Given the description of an element on the screen output the (x, y) to click on. 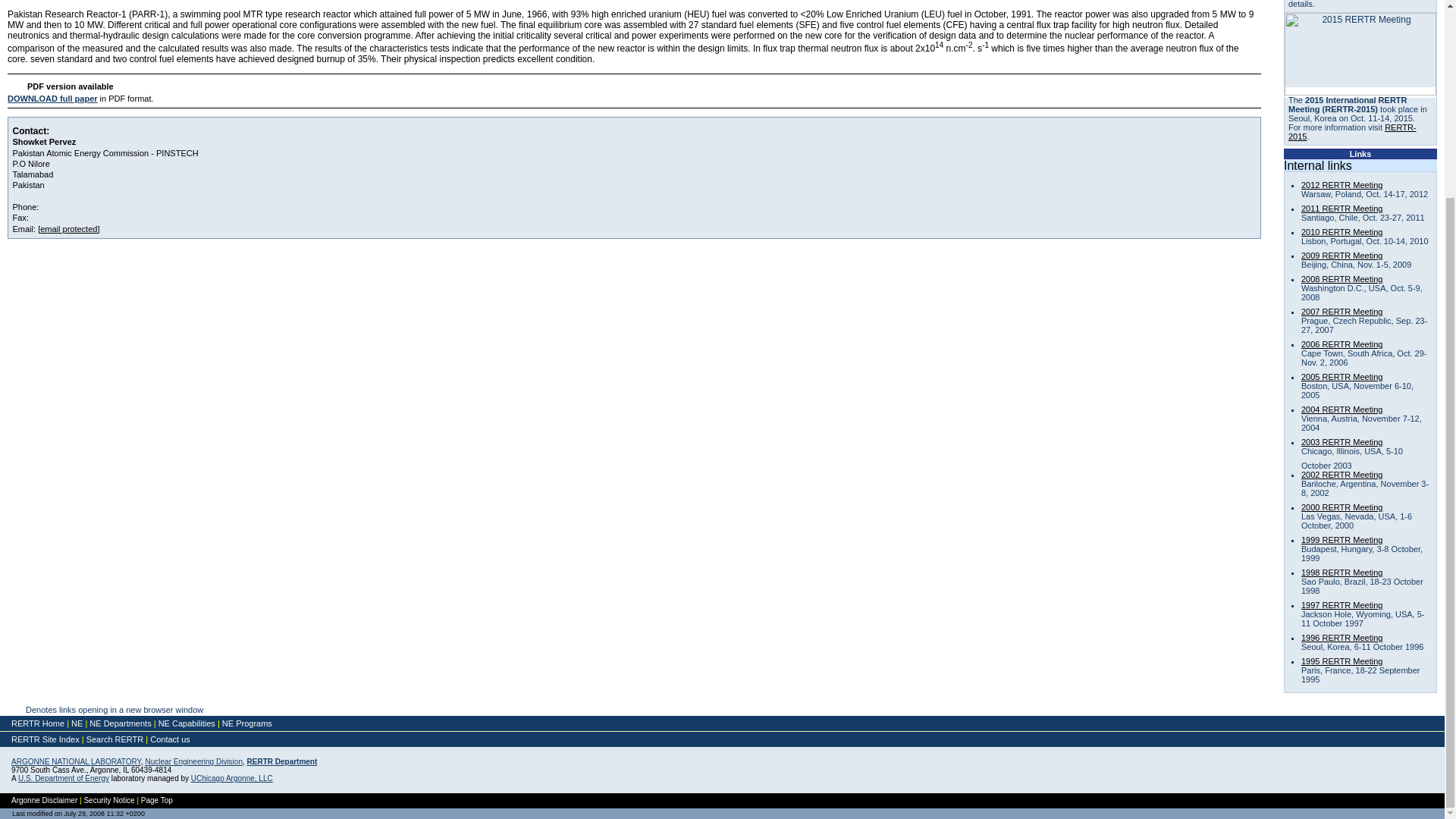
2003 RERTR Meeting (1341, 441)
RERTR Home (37, 723)
2006 RERTR Meeting (1341, 343)
2004 RERTR Meeting (1341, 409)
1995 RERTR Meeting (1341, 660)
2000 RERTR Meeting (1341, 506)
1998 RERTR Meeting (1341, 572)
2011 RERTR Meeting (1341, 207)
You are leaving this website (63, 777)
DOWNLOAD full paper (52, 98)
